Given the description of an element on the screen output the (x, y) to click on. 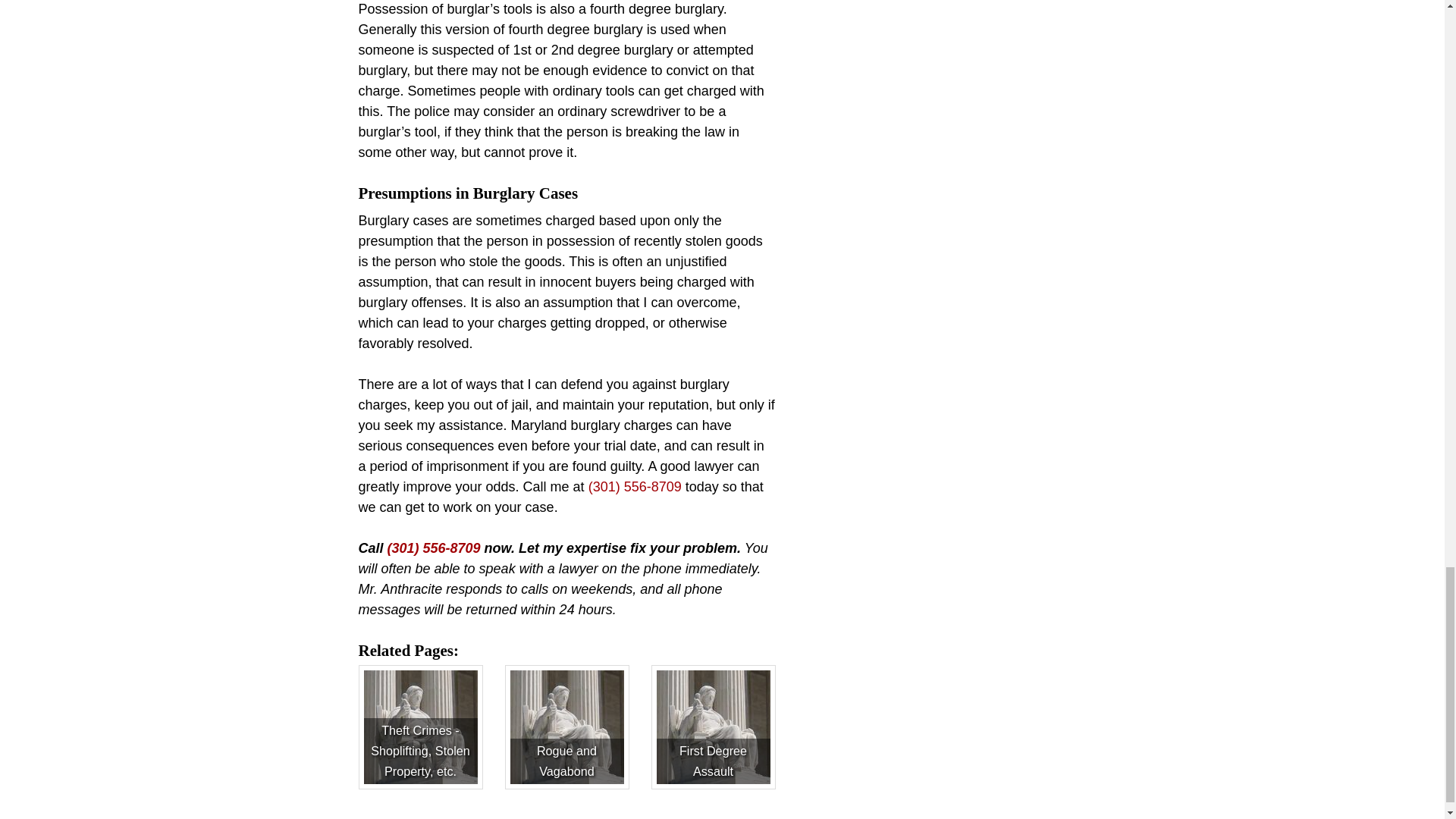
Rogue and Vagabond (566, 726)
Theft Crimes - Shoplifting, Stolen Property, etc. (420, 726)
First Degree Assault (713, 726)
Rogue and Vagabond (566, 726)
Theft Crimes - Shoplifting, Stolen Property, etc. (420, 726)
First Degree Assault (713, 726)
